Given the description of an element on the screen output the (x, y) to click on. 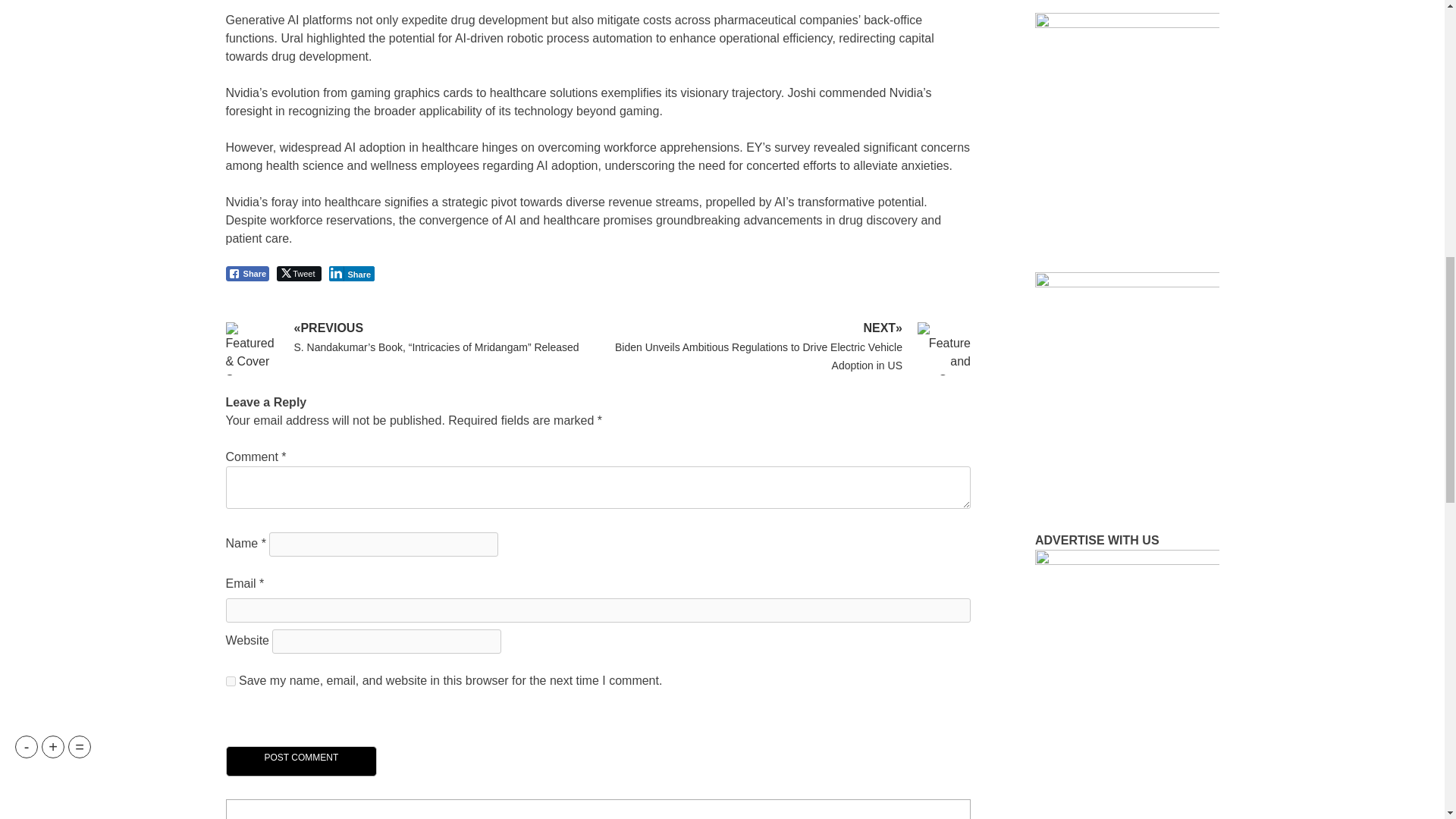
yes (230, 681)
Post Comment (301, 761)
